Given the description of an element on the screen output the (x, y) to click on. 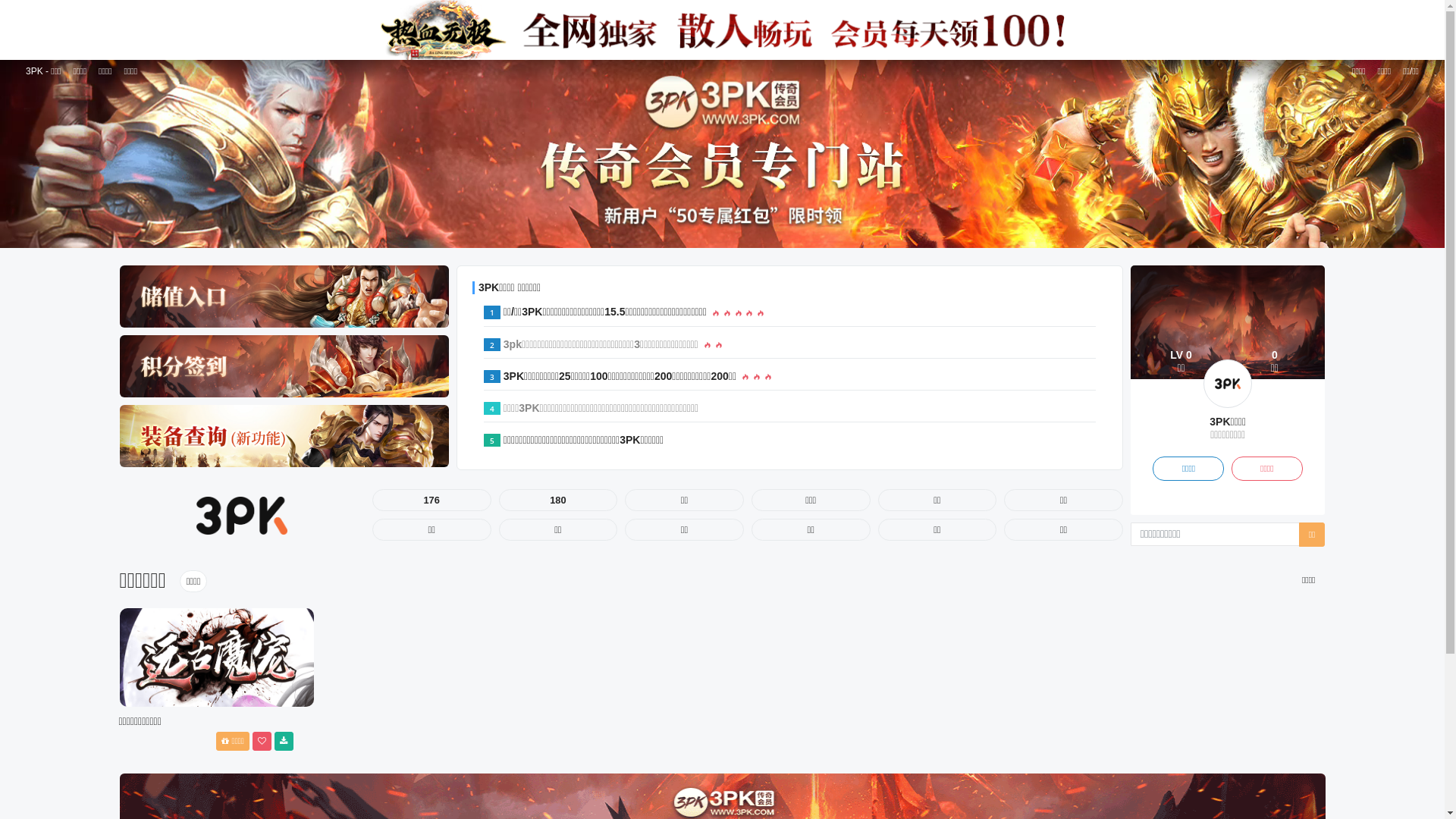
180 Element type: text (558, 500)
176 Element type: text (431, 500)
